Given the description of an element on the screen output the (x, y) to click on. 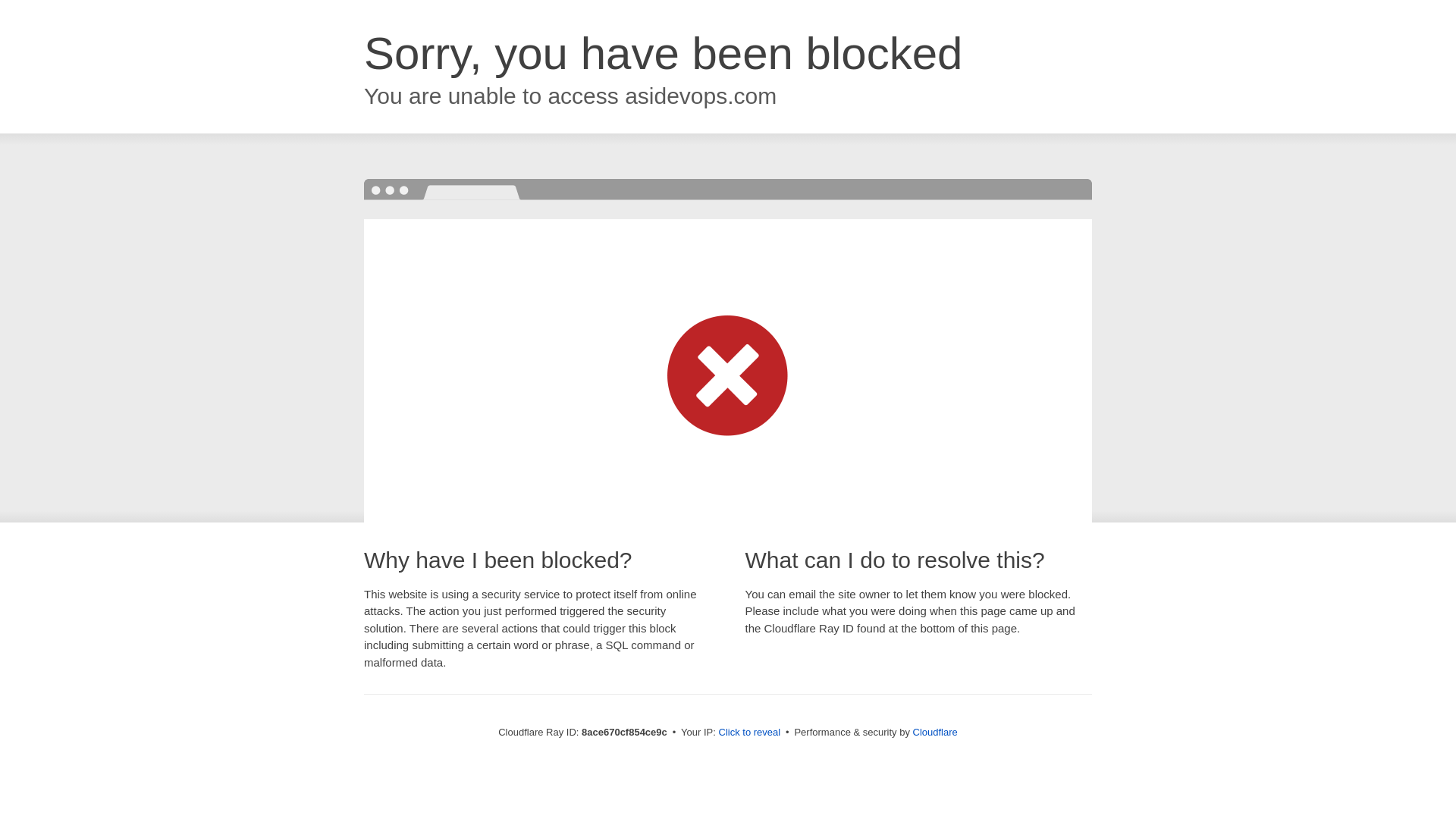
Cloudflare (935, 731)
Click to reveal (749, 732)
